Given the description of an element on the screen output the (x, y) to click on. 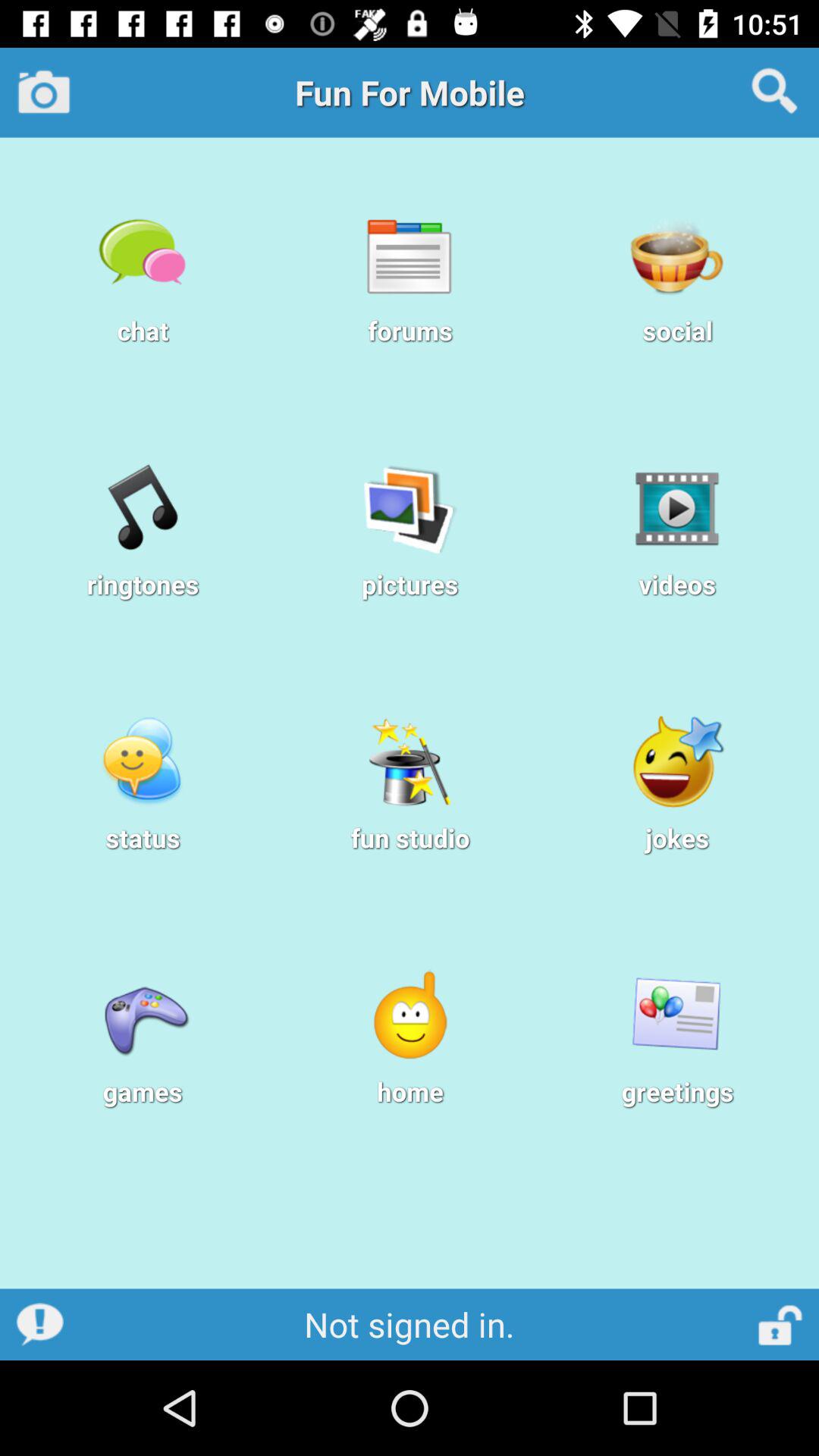
search (774, 91)
